Given the description of an element on the screen output the (x, y) to click on. 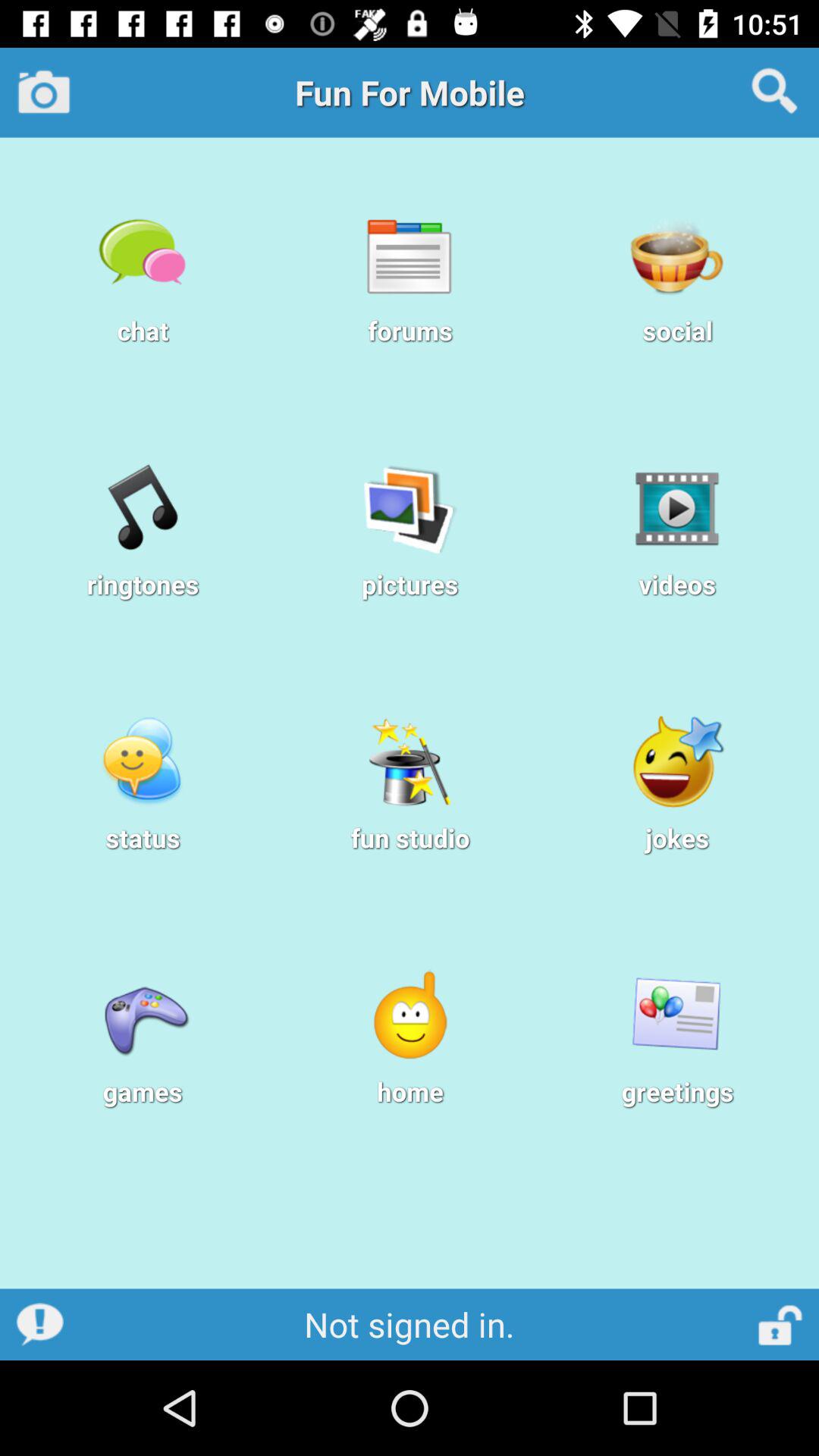
search (774, 91)
